Given the description of an element on the screen output the (x, y) to click on. 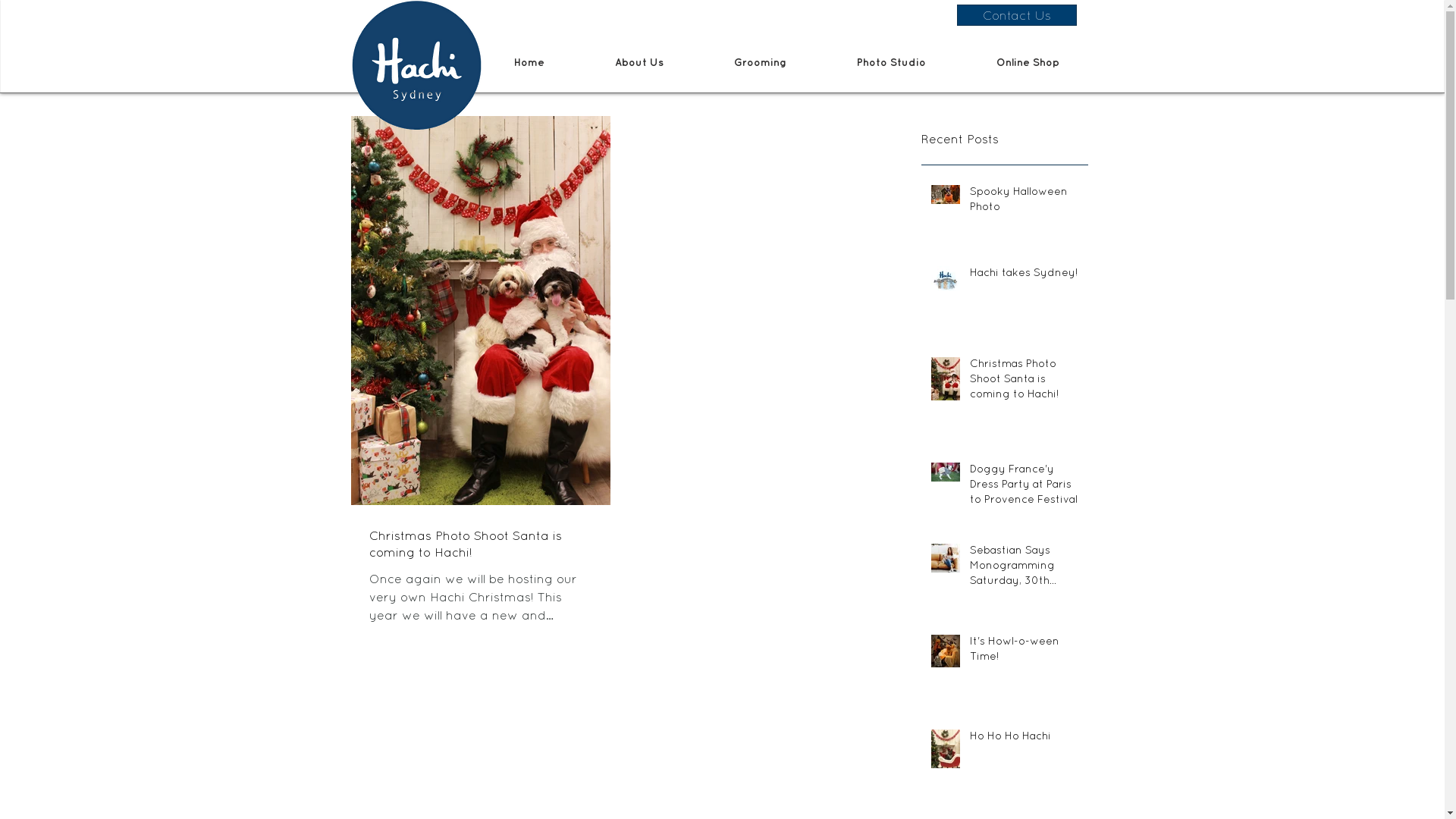
Hachi takes Sydney! Element type: text (1023, 275)
About Us Element type: text (638, 62)
It's Howl-o-ween Time! Element type: text (1023, 651)
Photo Studio Element type: text (891, 62)
Home Element type: text (529, 62)
Online Shop Element type: text (1027, 62)
Contact Us Element type: text (1016, 14)
Spooky Halloween Photo Element type: text (1023, 201)
Grooming Element type: text (760, 62)
Sebastian Says Monogramming Saturday, 30th November 11am-1pm Element type: text (1023, 567)
Christmas Photo Shoot Santa is coming to Hachi! Element type: text (1023, 381)
Christmas Photo Shoot Santa is coming to Hachi! Element type: text (479, 544)
Ho Ho Ho Hachi Element type: text (1023, 738)
Doggy France'y Dress Party at Paris to Provence Festival Element type: text (1023, 486)
